Given the description of an element on the screen output the (x, y) to click on. 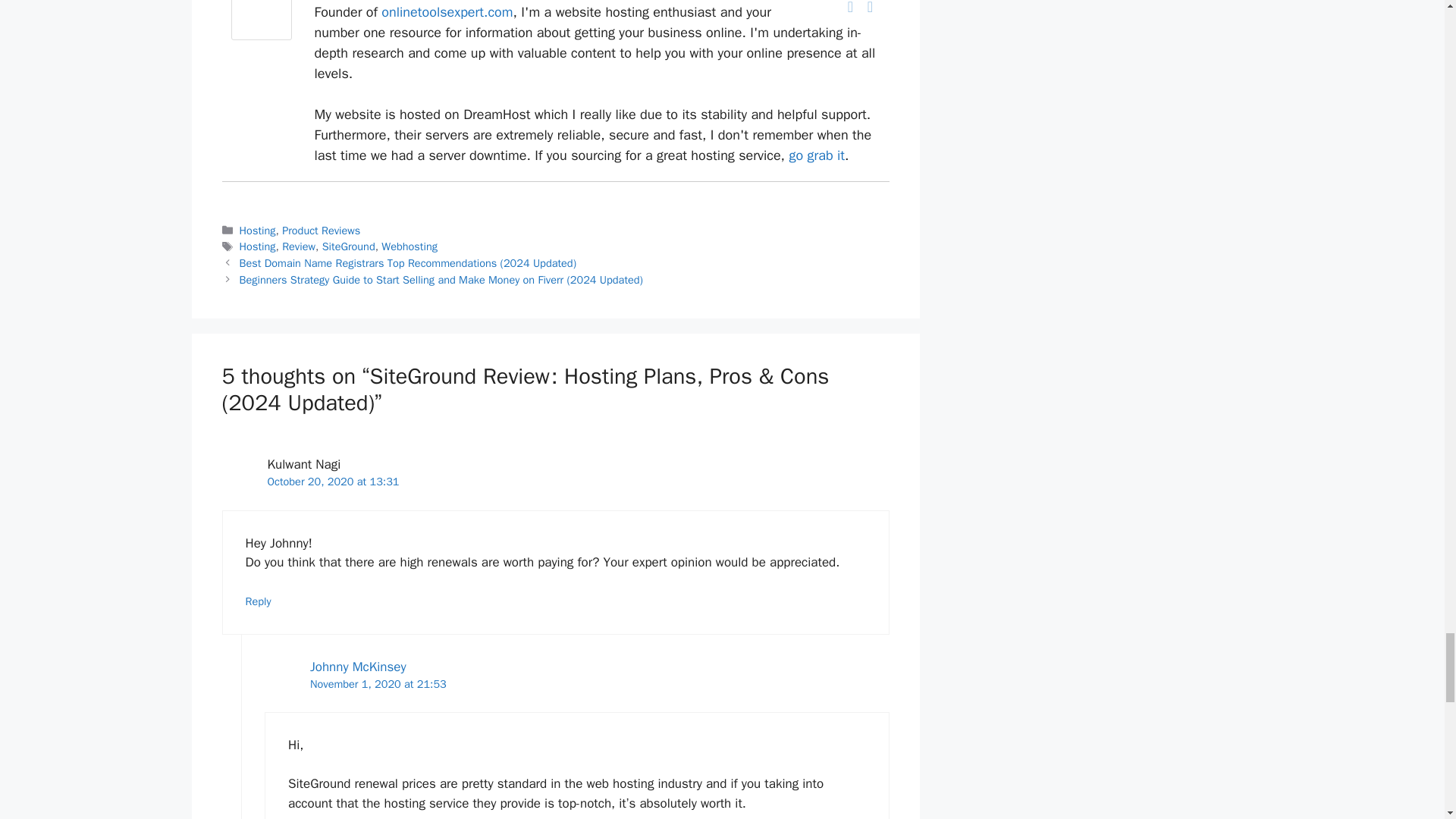
Facebook (850, 7)
Twitter (870, 7)
Johnny McKinsey (260, 35)
